Given the description of an element on the screen output the (x, y) to click on. 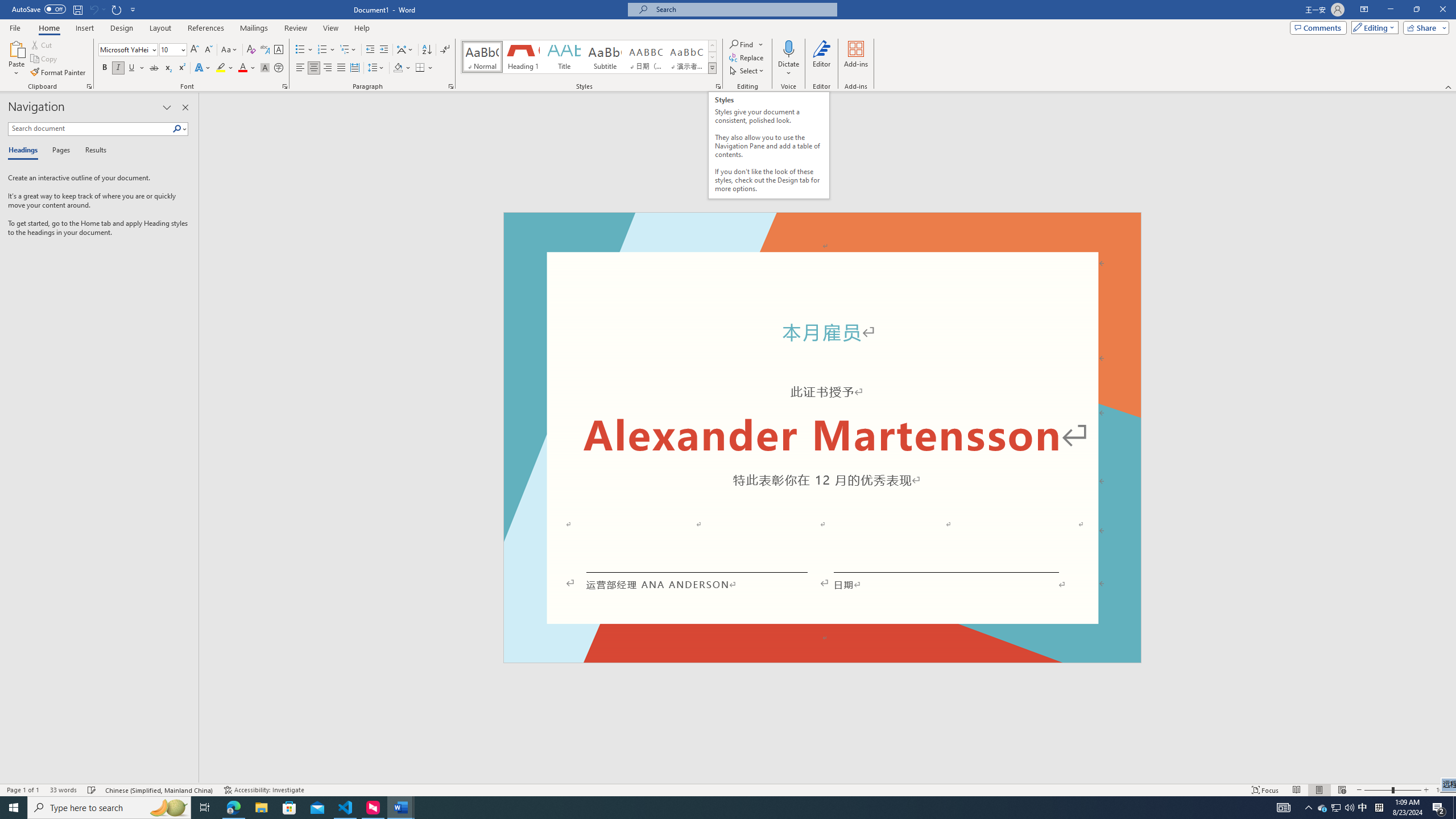
Class: MsoCommandBar (728, 789)
Search document (89, 128)
Pages (59, 150)
Font Color (246, 67)
Clear Formatting (250, 49)
Row Down (711, 56)
Character Shading (264, 67)
Subtitle (605, 56)
Office Clipboard... (88, 85)
Distributed (354, 67)
Font Color Red (241, 67)
